Given the description of an element on the screen output the (x, y) to click on. 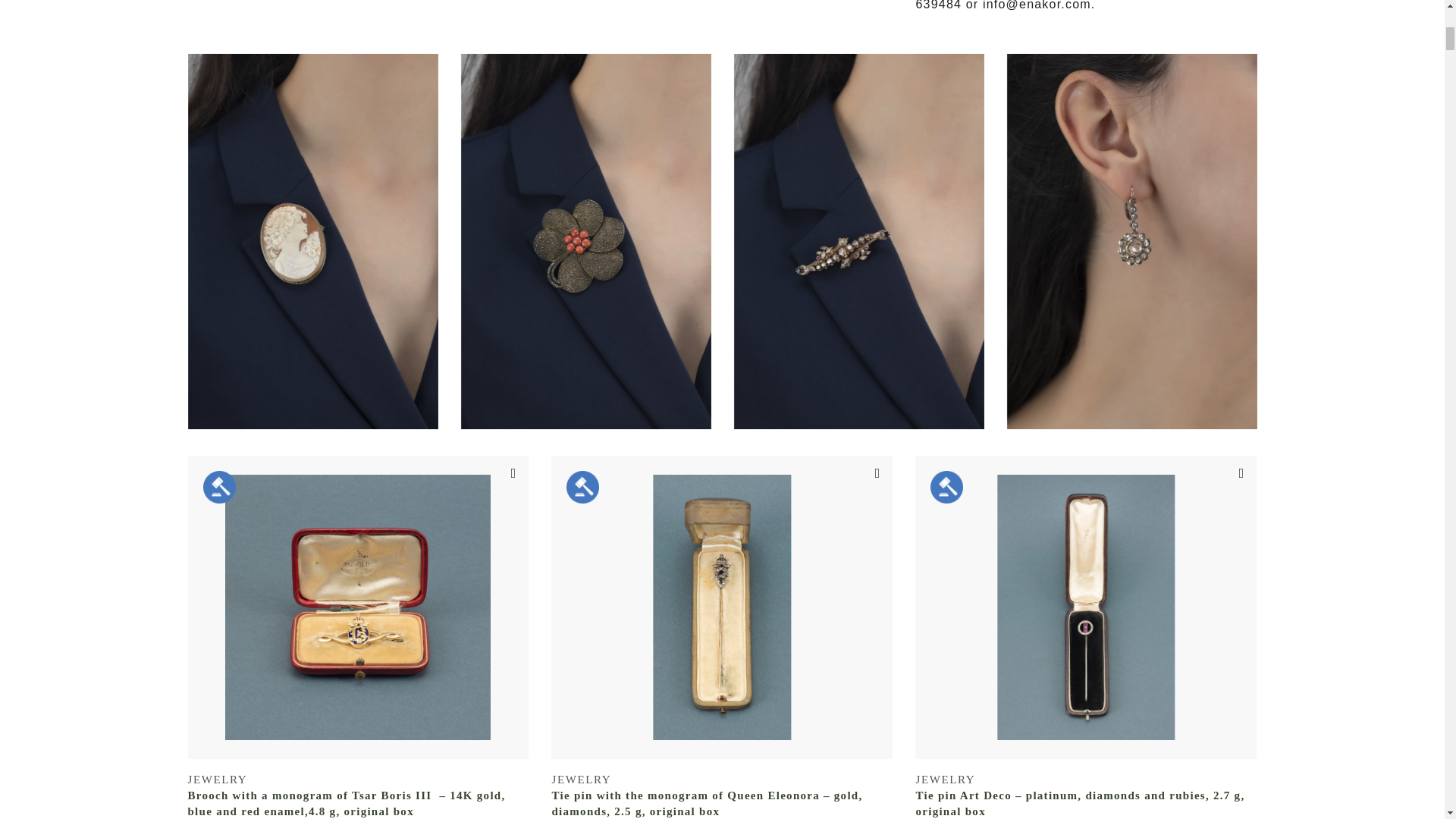
JEWELRY (217, 779)
JEWELRY (581, 779)
JEWELRY (945, 779)
